Given the description of an element on the screen output the (x, y) to click on. 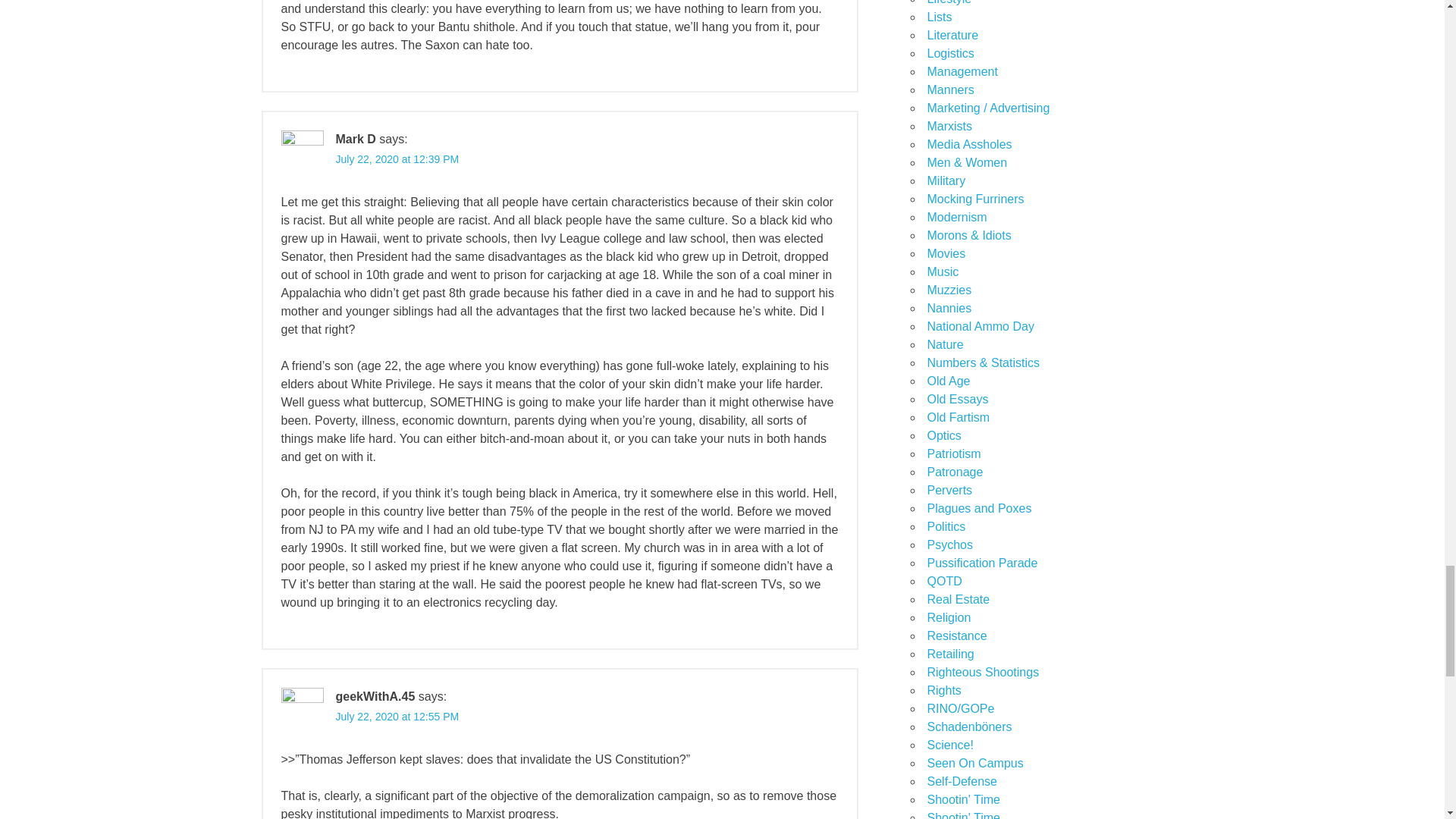
Trying not to start the public floggings (945, 526)
Observations from an elderly student (974, 762)
July 22, 2020 at 12:39 PM (396, 159)
July 22, 2020 at 12:55 PM (396, 716)
Things that men and women do, sometimes to each other (966, 162)
